Given the description of an element on the screen output the (x, y) to click on. 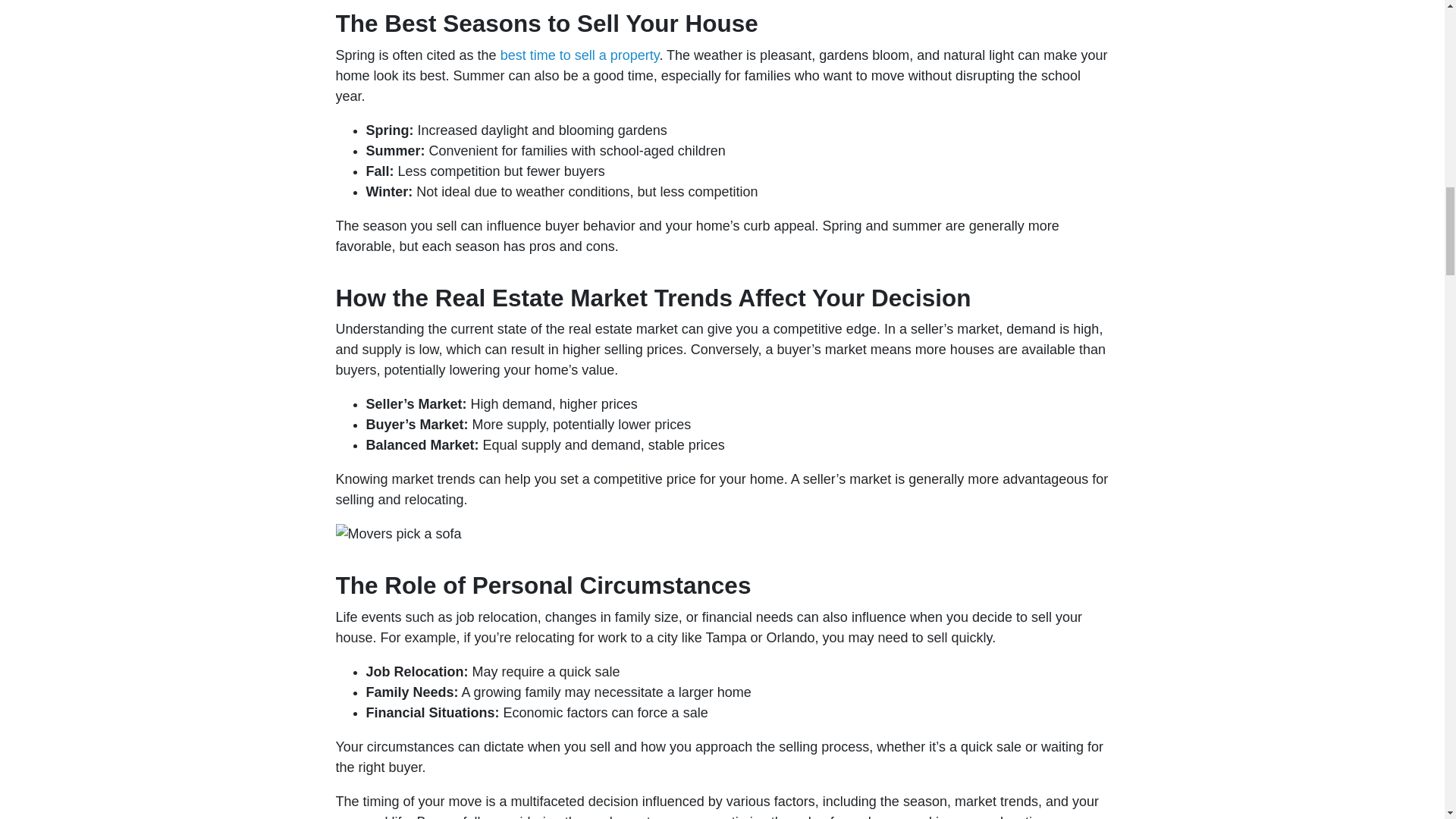
best time to sell a property (579, 55)
